Given the description of an element on the screen output the (x, y) to click on. 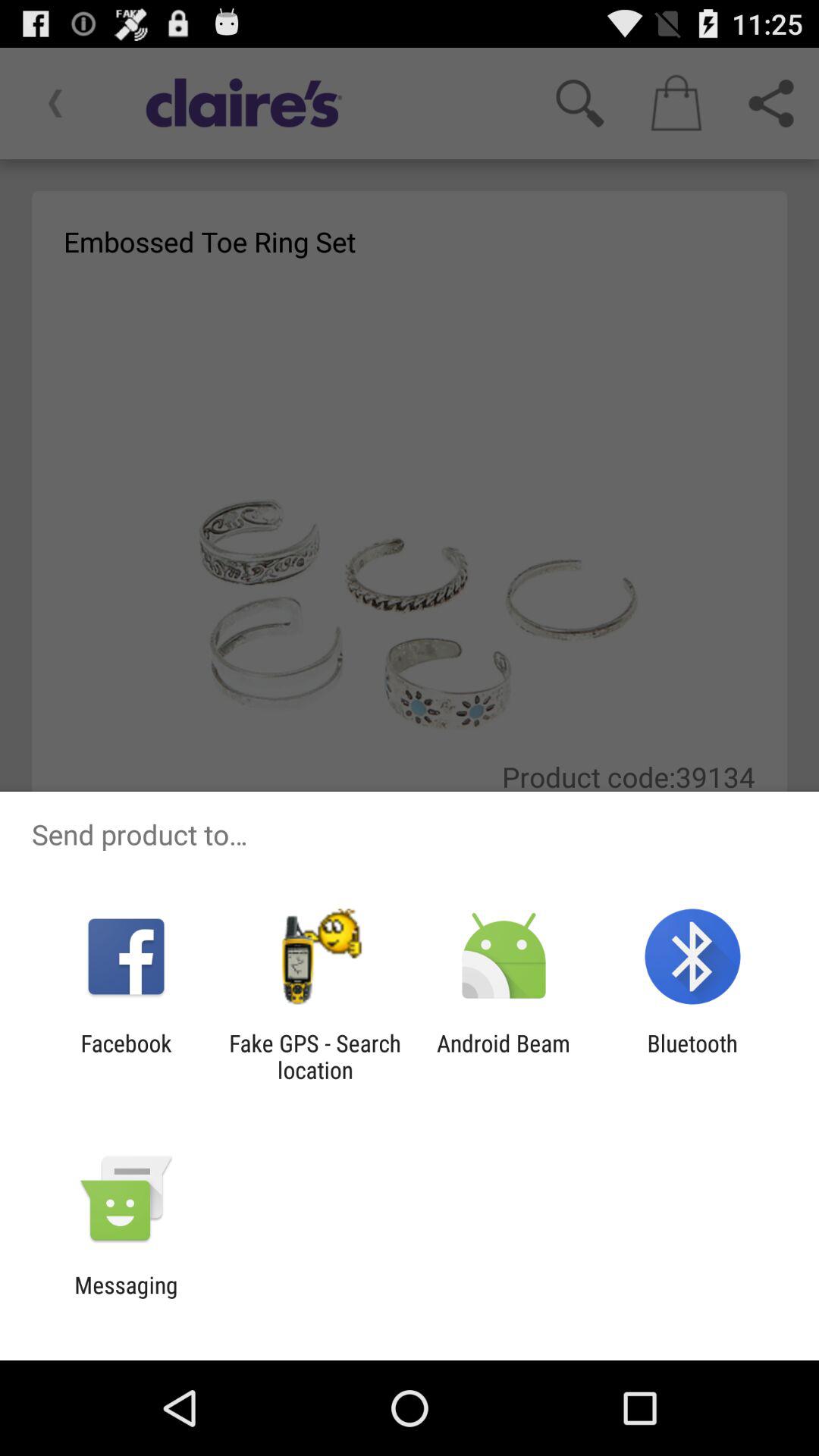
turn off the bluetooth at the bottom right corner (692, 1056)
